Given the description of an element on the screen output the (x, y) to click on. 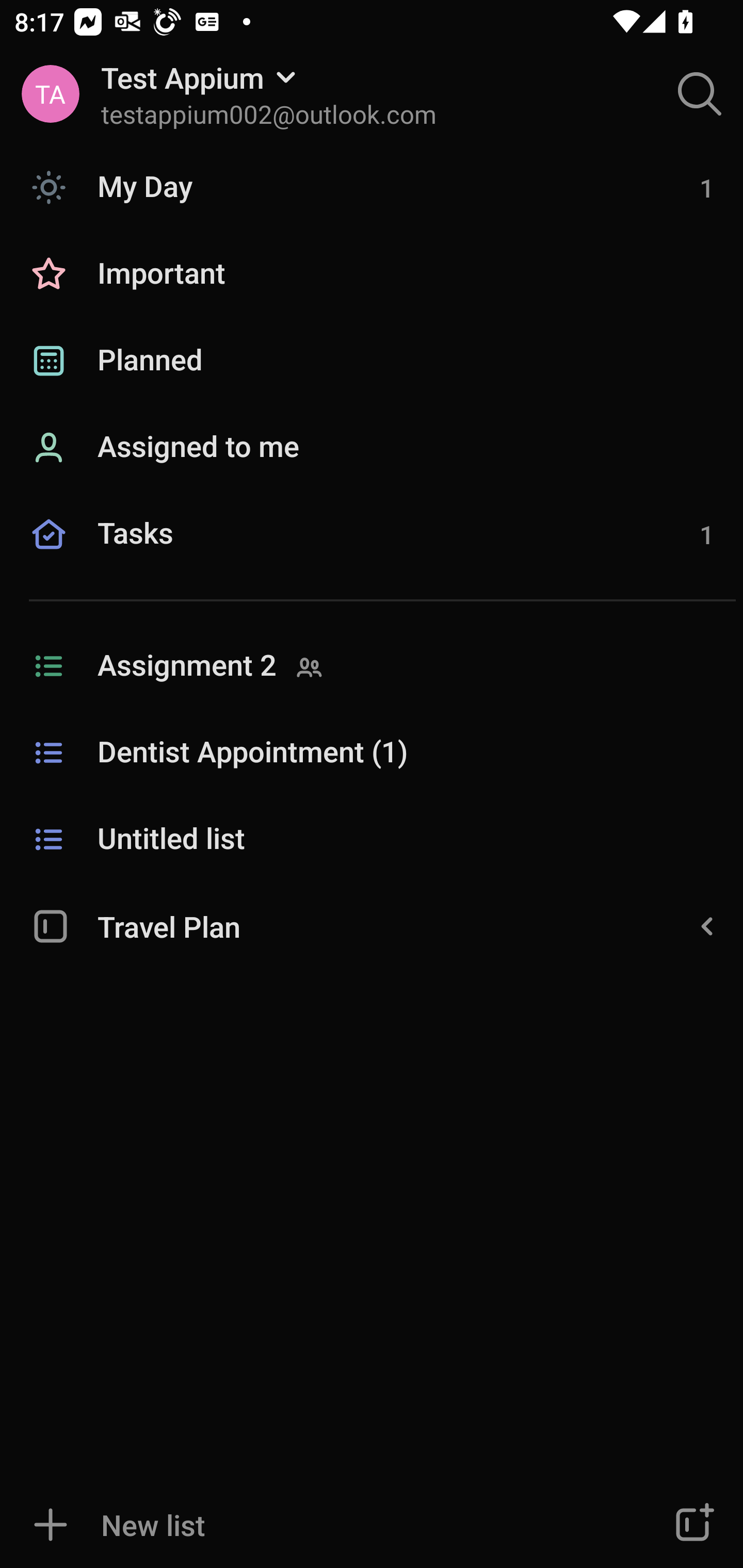
Enter search (699, 93)
My Day, 1 tasks My Day 1 (371, 187)
Important, 0 tasks Important (371, 274)
Planned, 0 tasks Planned (371, 361)
Assigned to me, 0 tasks Assigned to me (371, 447)
Tasks, 1 tasks Tasks 1 (371, 556)
Shared list. Assignment 2 Assignment 2 Shared list (371, 666)
Dentist Appointment (1) (371, 753)
Untitled list (371, 839)
Group Travel Plan, contains 0 lists Travel Plan (371, 925)
New list (312, 1524)
Create group (692, 1524)
